Given the description of an element on the screen output the (x, y) to click on. 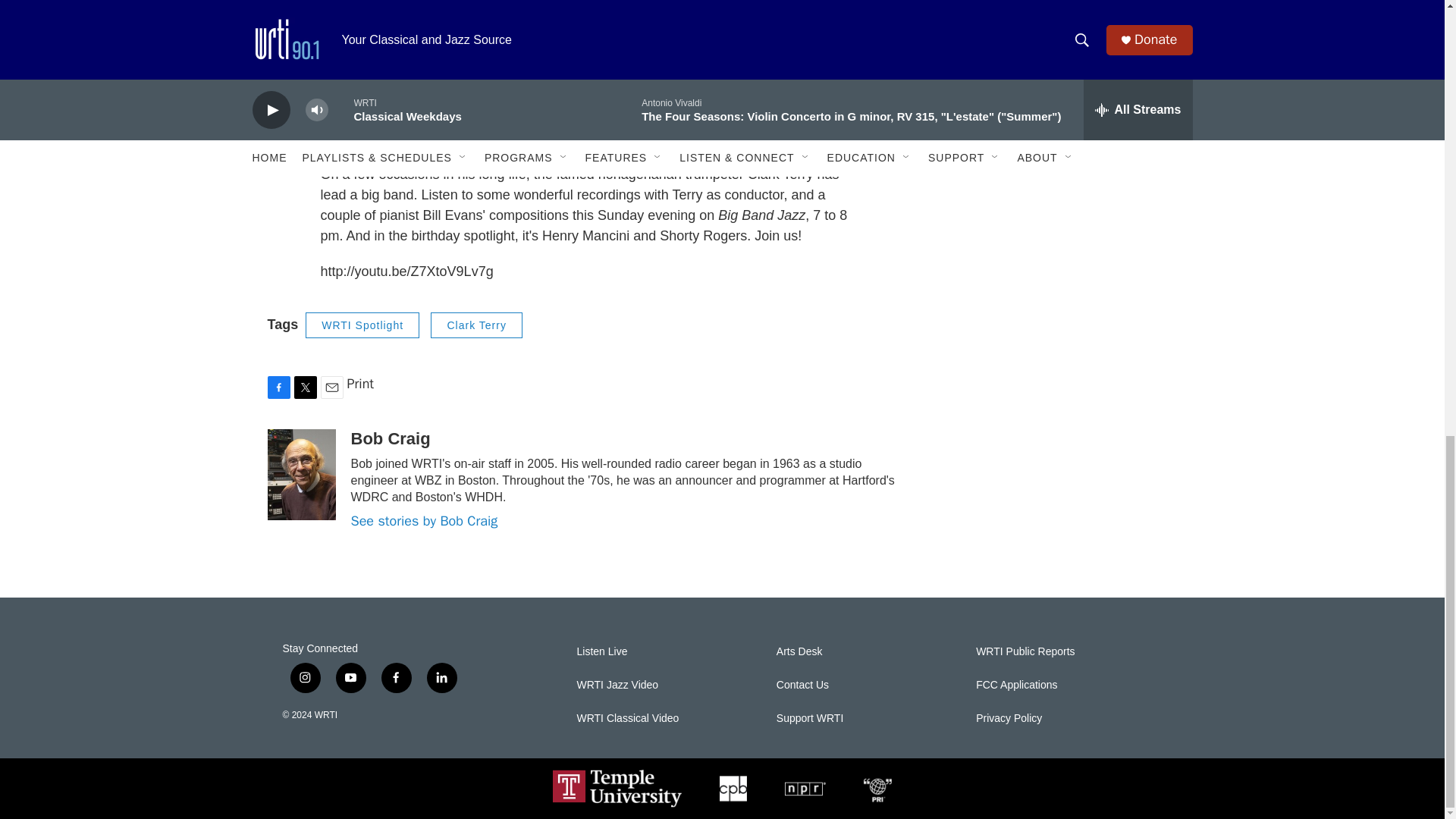
3rd party ad content (1062, 76)
3rd party ad content (1062, 468)
3rd party ad content (1062, 262)
